Given the description of an element on the screen output the (x, y) to click on. 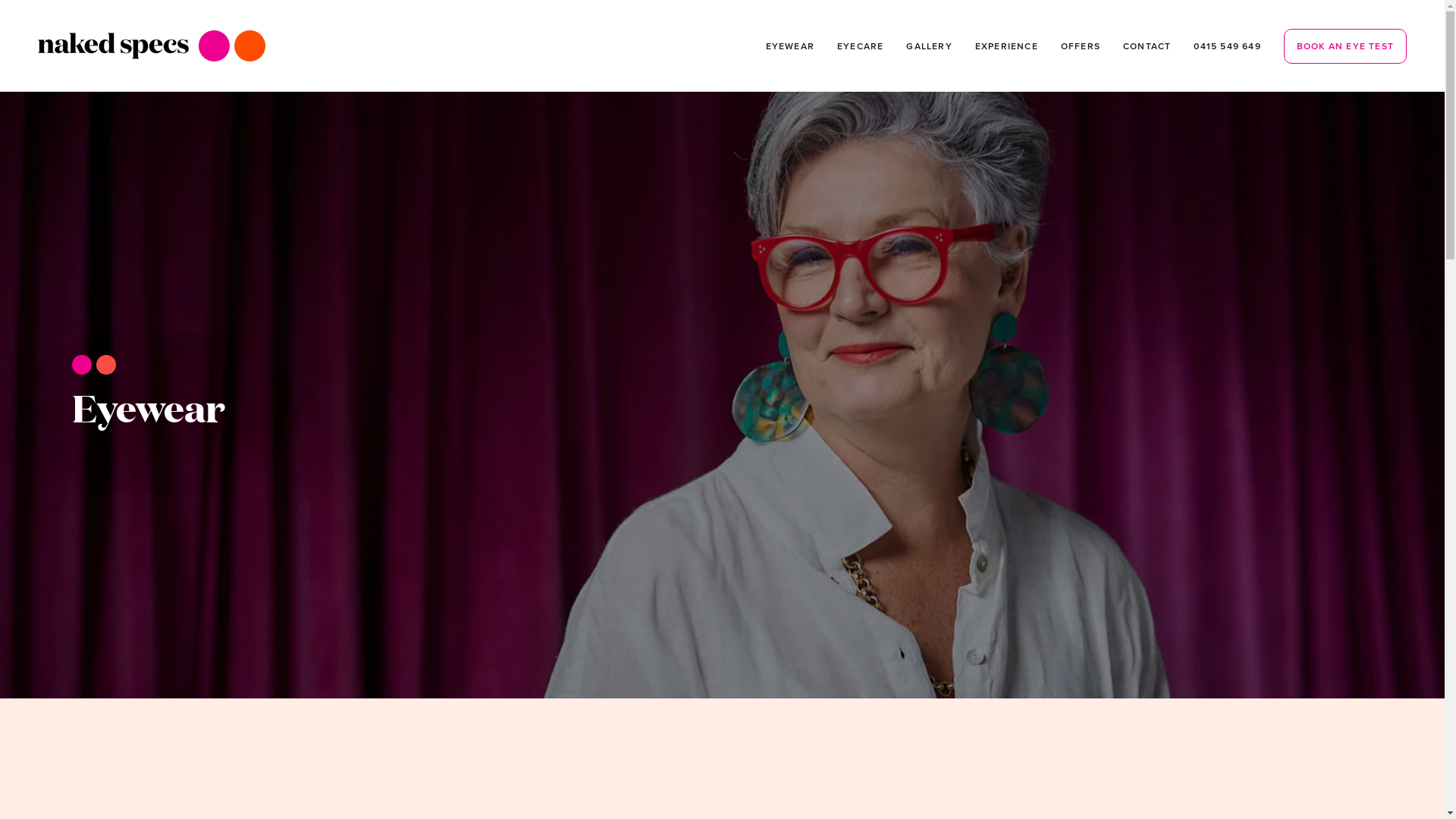
EXPERIENCE
EXPERIENCE Element type: text (1006, 45)
EYECARE Element type: text (860, 45)
BOOK AN EYE TEST Element type: text (1344, 45)
EYEWEAR Element type: text (789, 45)
0415 549 649 Element type: text (1226, 45)
GALLERY
GALLERY Element type: text (928, 45)
OFFERS
OFFERS Element type: text (1080, 45)
CONTACT
CONTACT Element type: text (1146, 45)
